Given the description of an element on the screen output the (x, y) to click on. 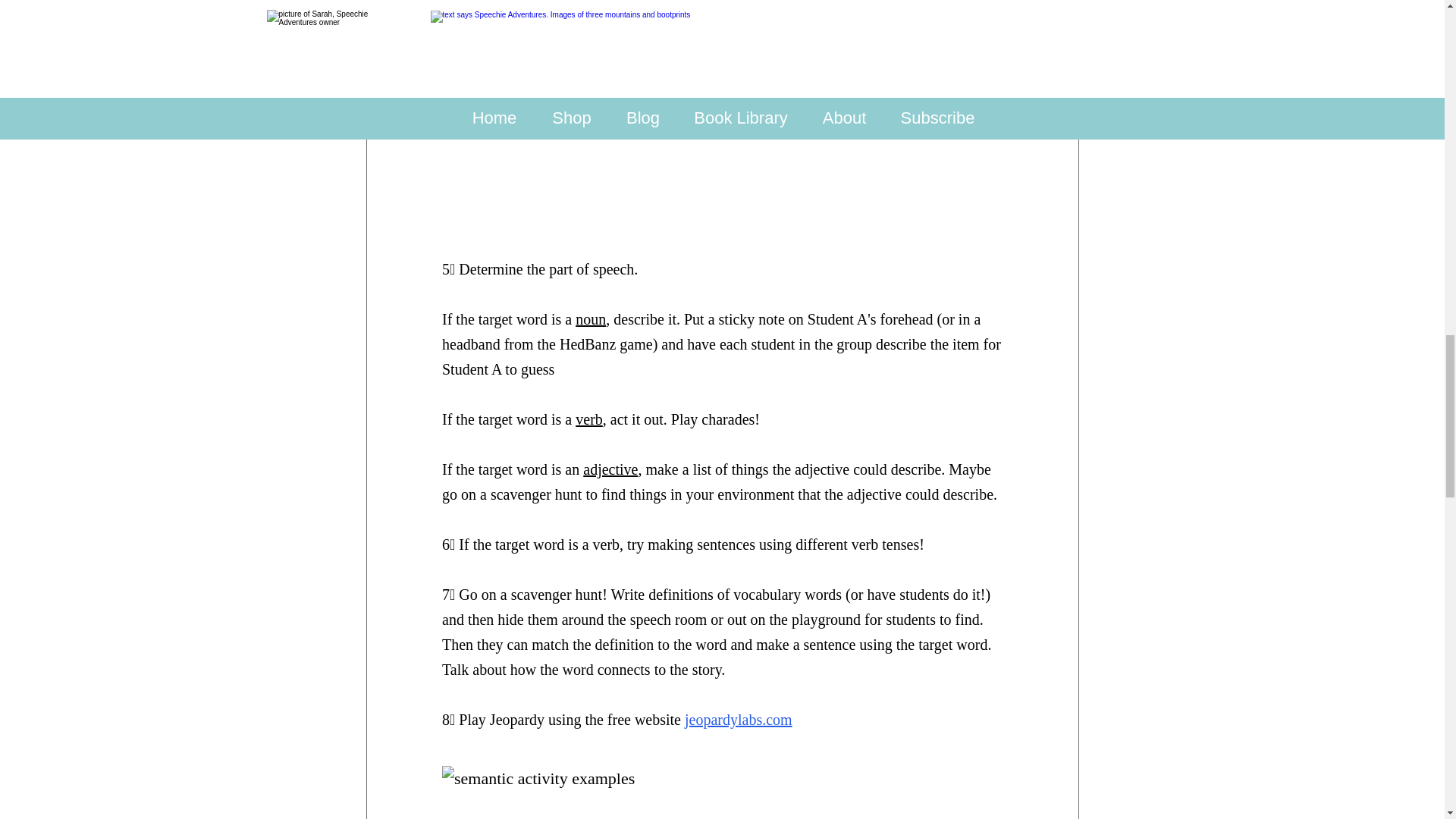
jeopardylabs.com (738, 719)
